Given the description of an element on the screen output the (x, y) to click on. 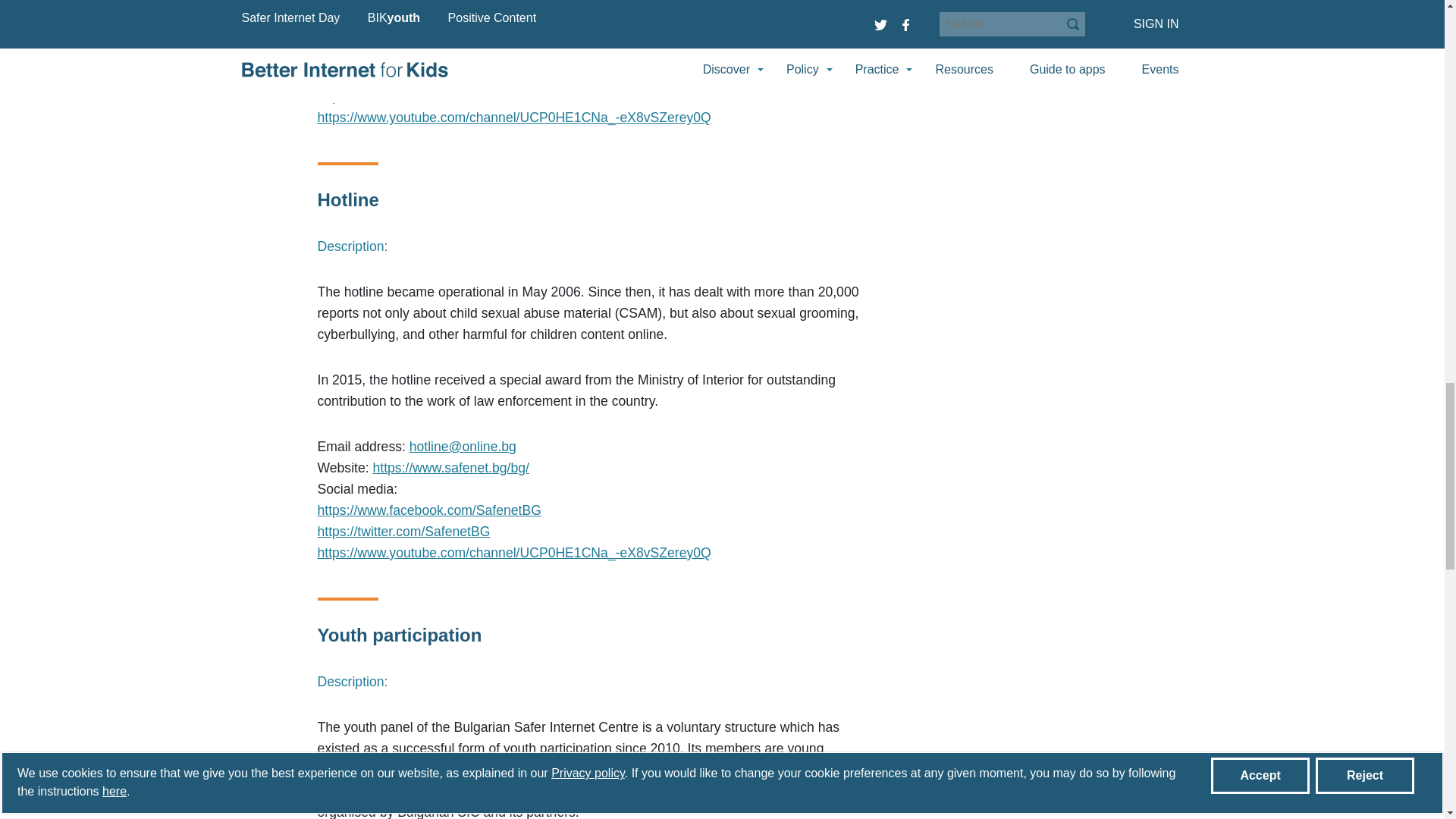
Go to Youtube (513, 117)
Website (450, 32)
Go to Facebook (430, 74)
Go to Twitter (403, 96)
Email address (462, 446)
Email address (465, 11)
